Given the description of an element on the screen output the (x, y) to click on. 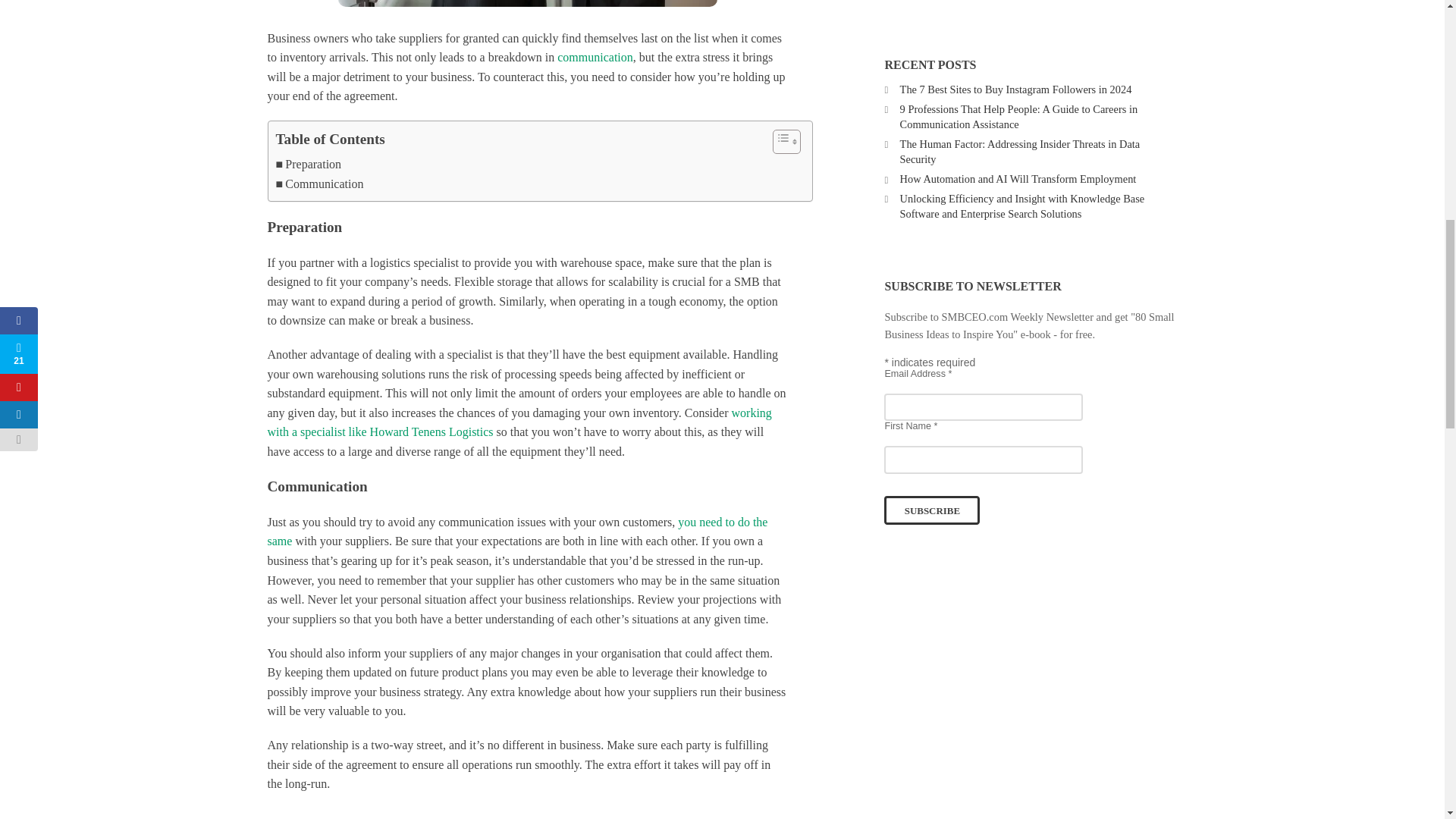
communication (595, 56)
Communication (320, 184)
working with a specialist like Howard Tenens Logistics (518, 422)
Preparation (309, 164)
Subscribe (931, 510)
Preparation (309, 164)
Communication (320, 184)
you need to do the same (516, 531)
